Given the description of an element on the screen output the (x, y) to click on. 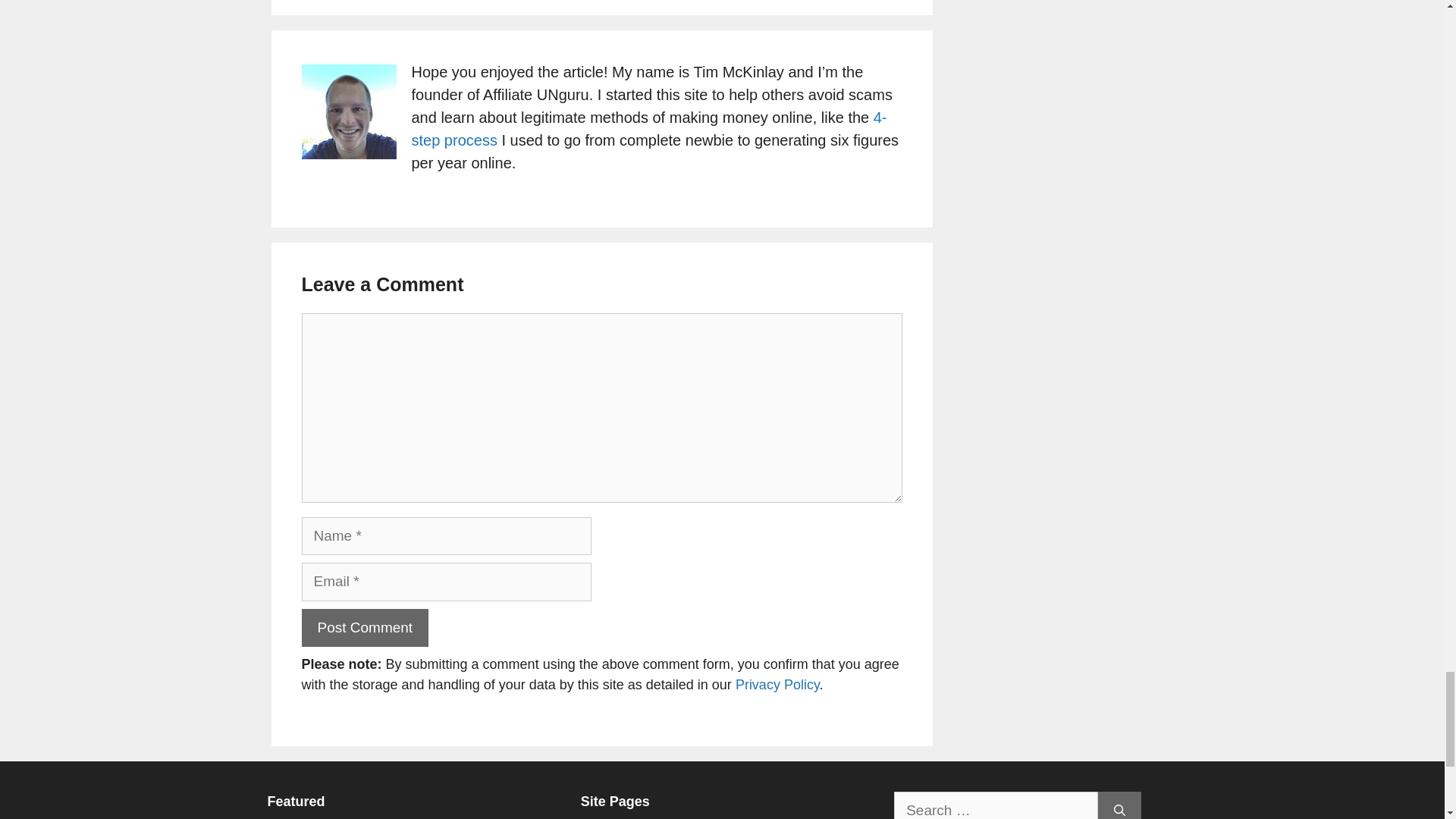
Post Comment (365, 628)
Post Comment (365, 628)
4-step process (648, 128)
Search for: (995, 805)
Privacy Policy (777, 684)
